Given the description of an element on the screen output the (x, y) to click on. 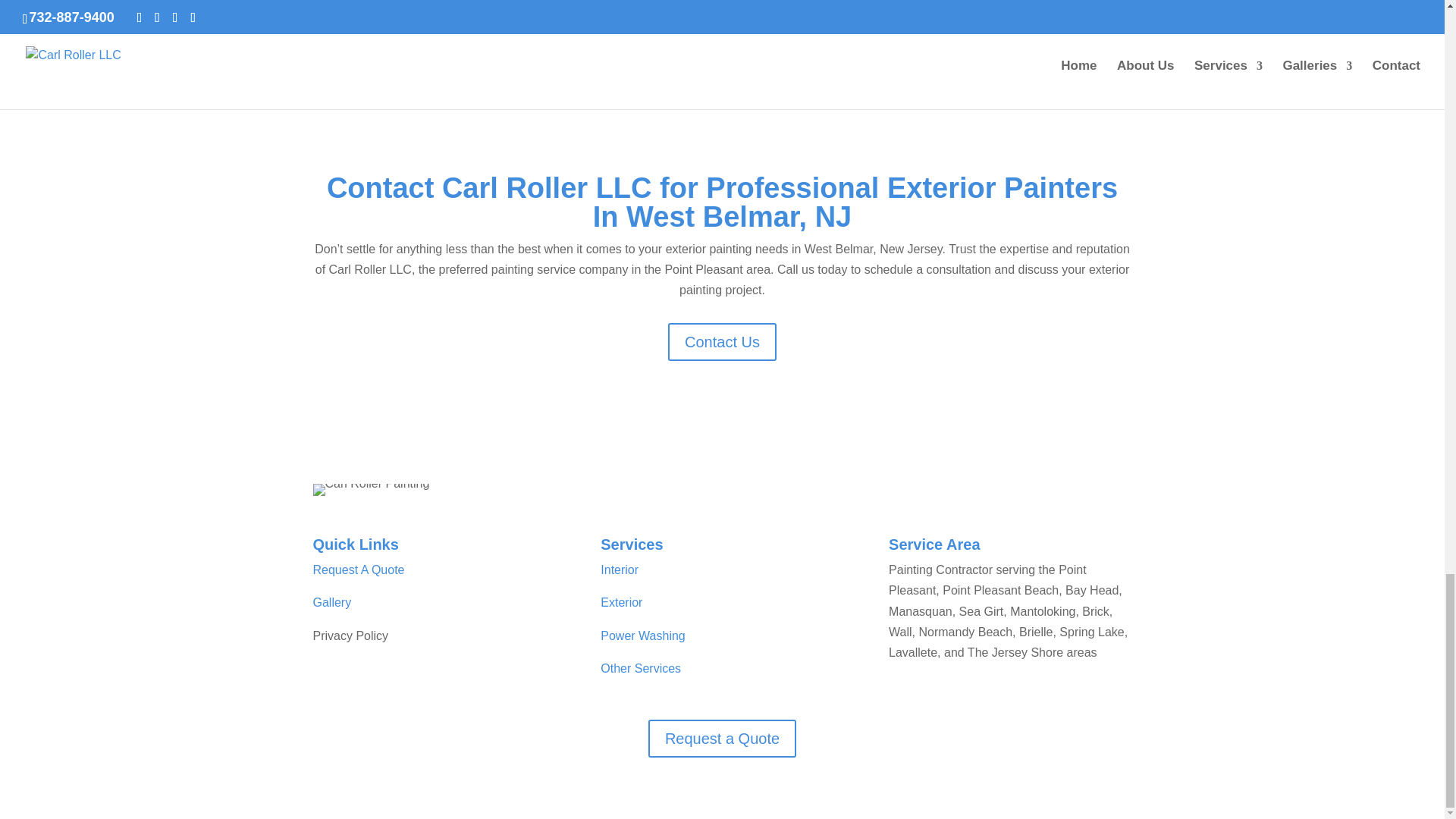
Request a Quote (721, 738)
Request A Quote (358, 569)
Interior (619, 569)
Exterior (620, 602)
Other Services (640, 667)
Gallery (331, 602)
Power Washing (641, 635)
Contact Us (722, 341)
